Given the description of an element on the screen output the (x, y) to click on. 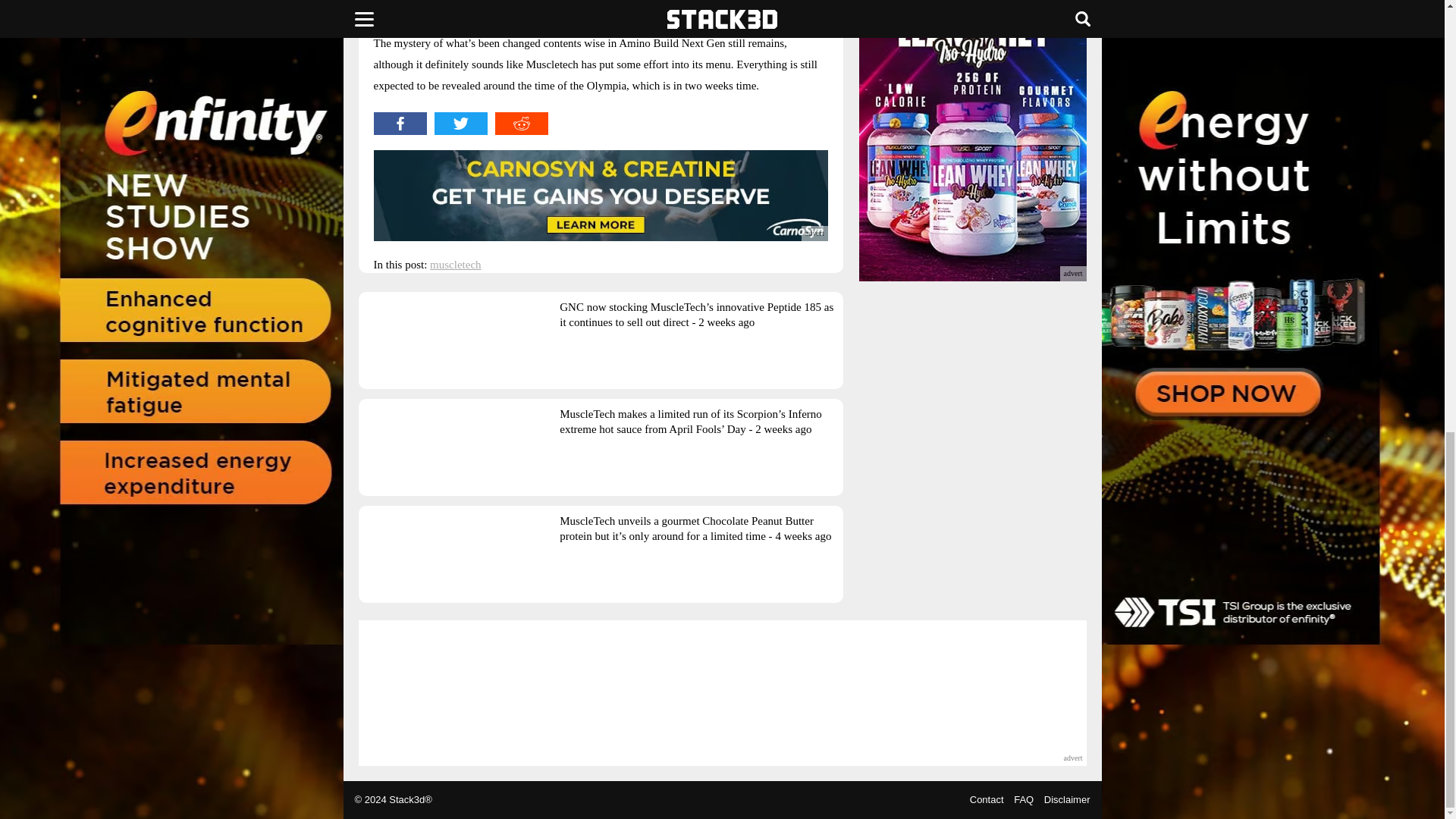
muscletech (454, 264)
